Given the description of an element on the screen output the (x, y) to click on. 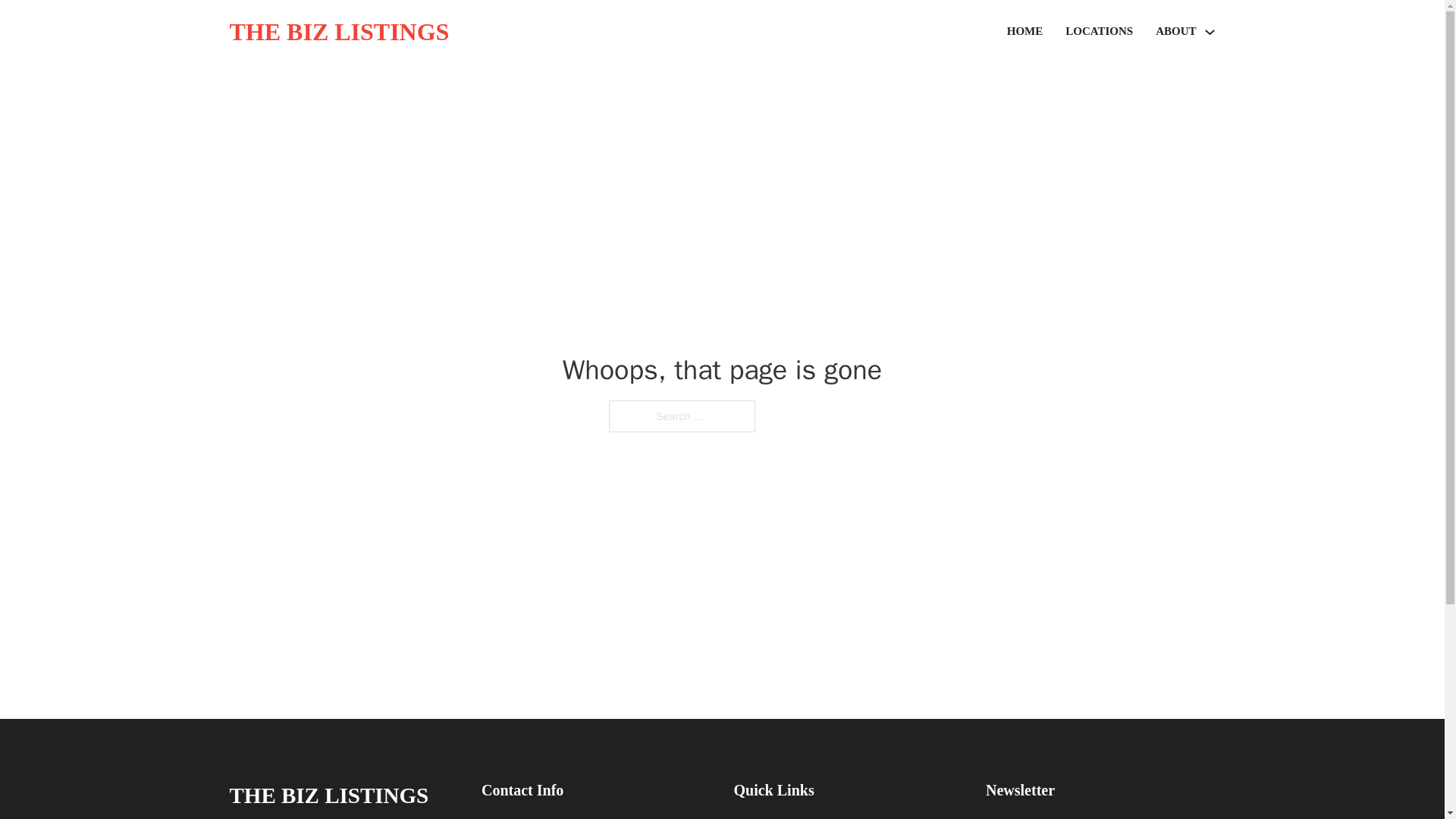
HOME (1025, 31)
THE BIZ LISTINGS (338, 31)
ABOUT (1175, 31)
LOCATIONS (1098, 31)
THE BIZ LISTINGS (328, 795)
